Given the description of an element on the screen output the (x, y) to click on. 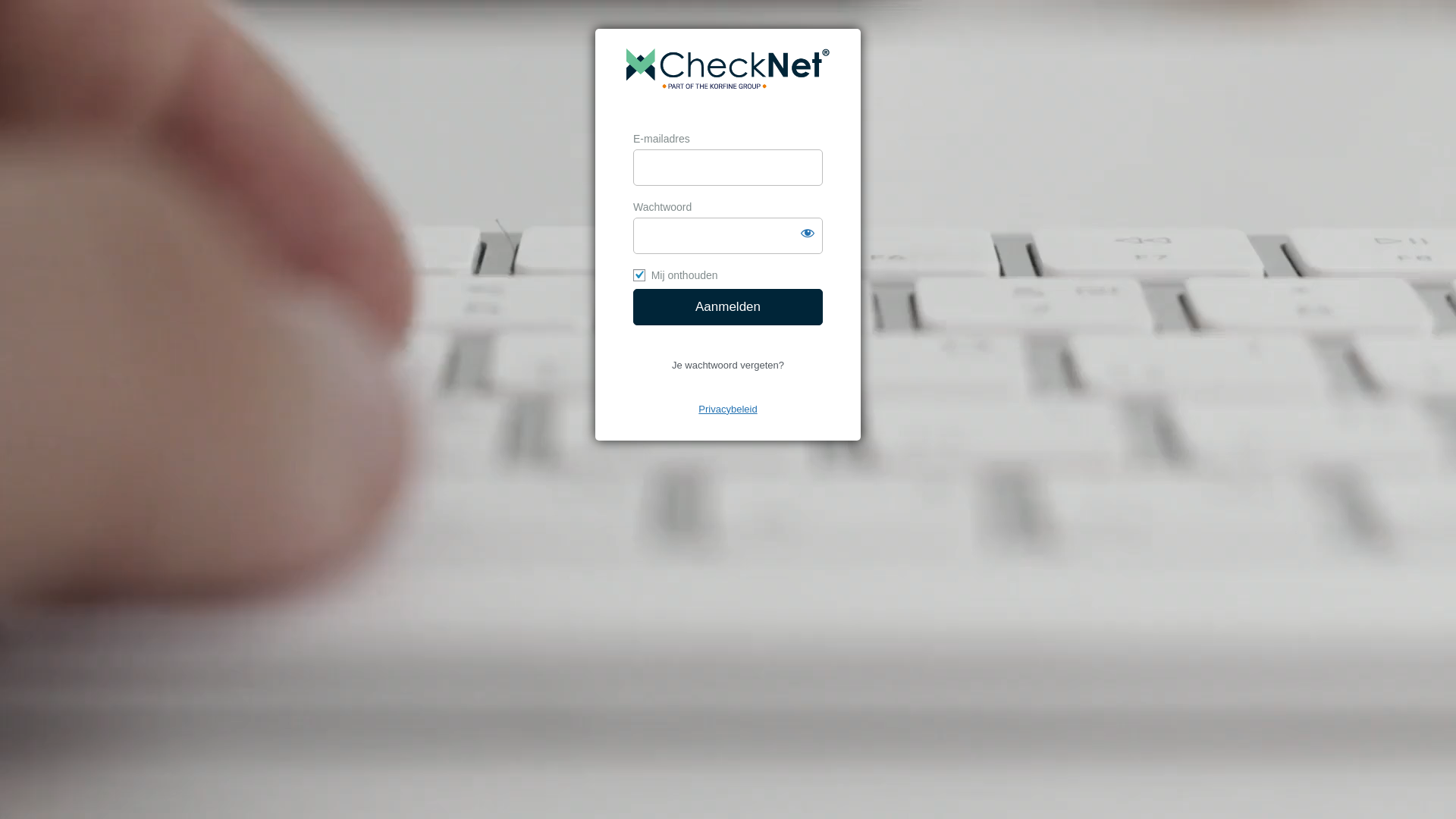
https://expert.checknet.be Element type: text (727, 82)
Je wachtwoord vergeten? Element type: text (727, 364)
Privacybeleid Element type: text (727, 408)
Aanmelden Element type: text (727, 306)
